Given the description of an element on the screen output the (x, y) to click on. 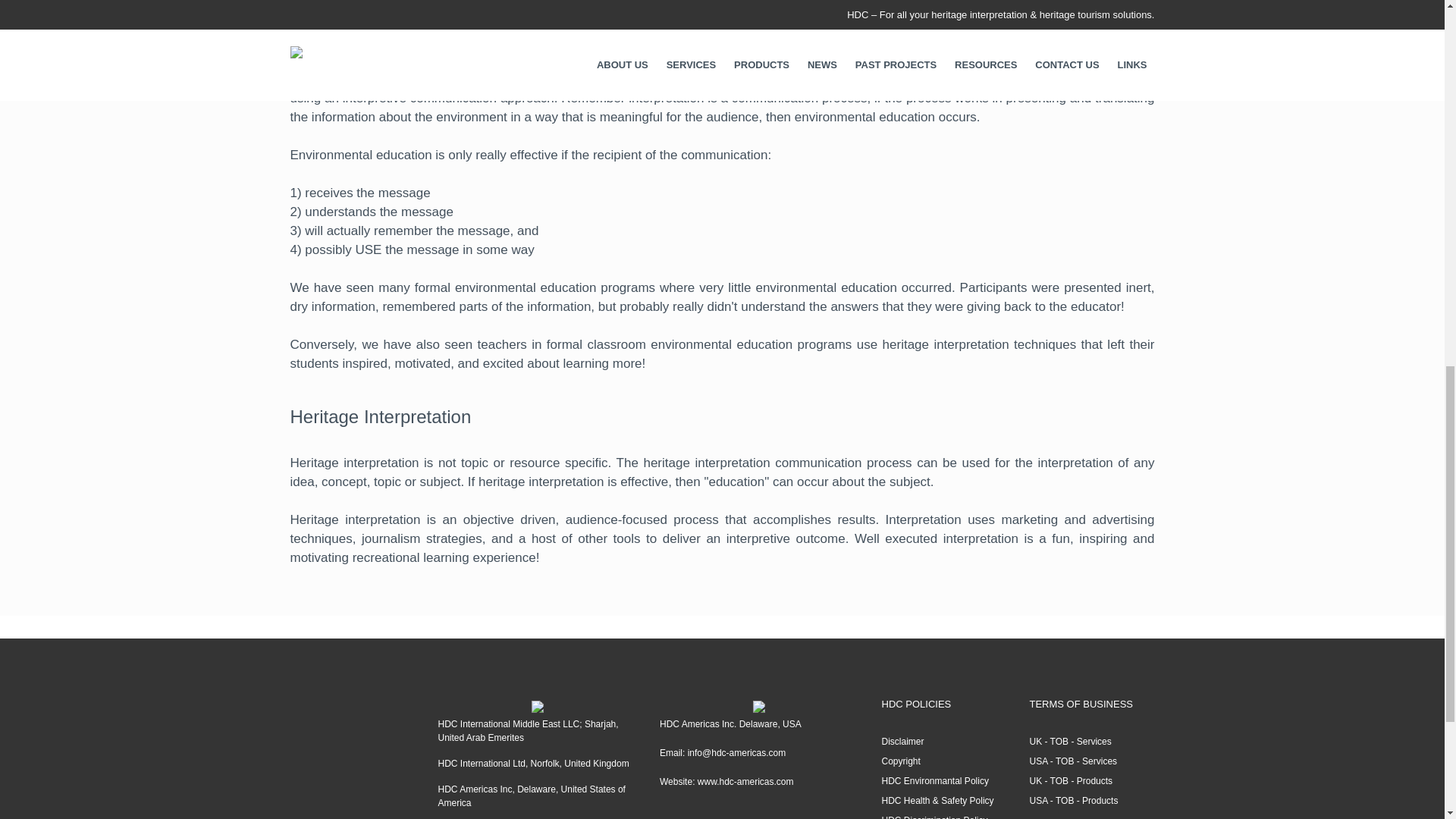
Copyright (943, 761)
Website: www.hdc-americas.com (759, 781)
Disclaimer (943, 741)
HDC Environmantal Policy (943, 781)
